Given the description of an element on the screen output the (x, y) to click on. 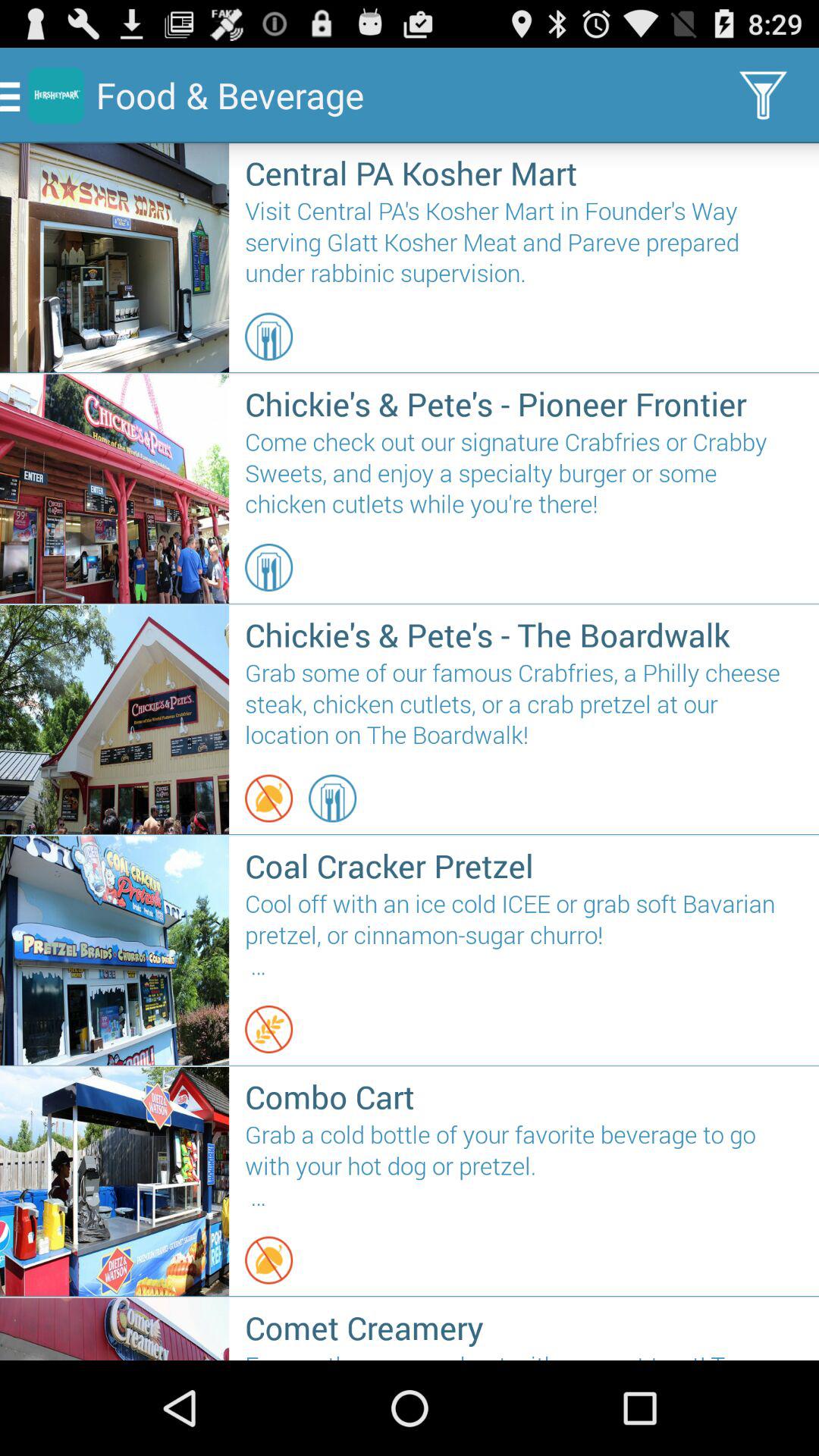
flip until the comet creamery (524, 1327)
